Given the description of an element on the screen output the (x, y) to click on. 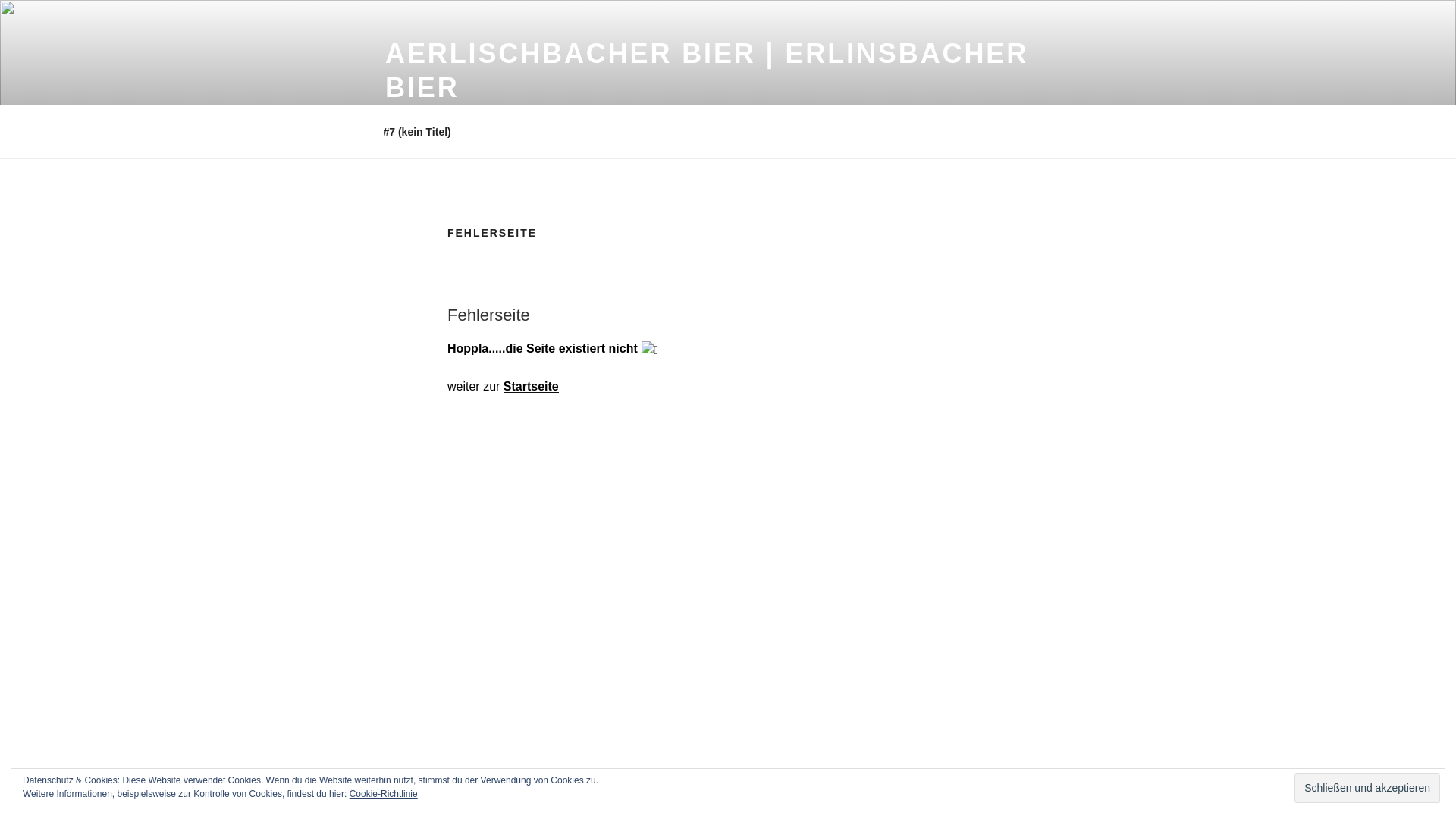
Startseite Element type: text (530, 385)
Cookie-Richtlinie Element type: text (383, 793)
AERLISCHBACHER BIER | ERLINSBACHER BIER Element type: text (706, 70)
#7 (kein Titel) Element type: text (417, 131)
